Given the description of an element on the screen output the (x, y) to click on. 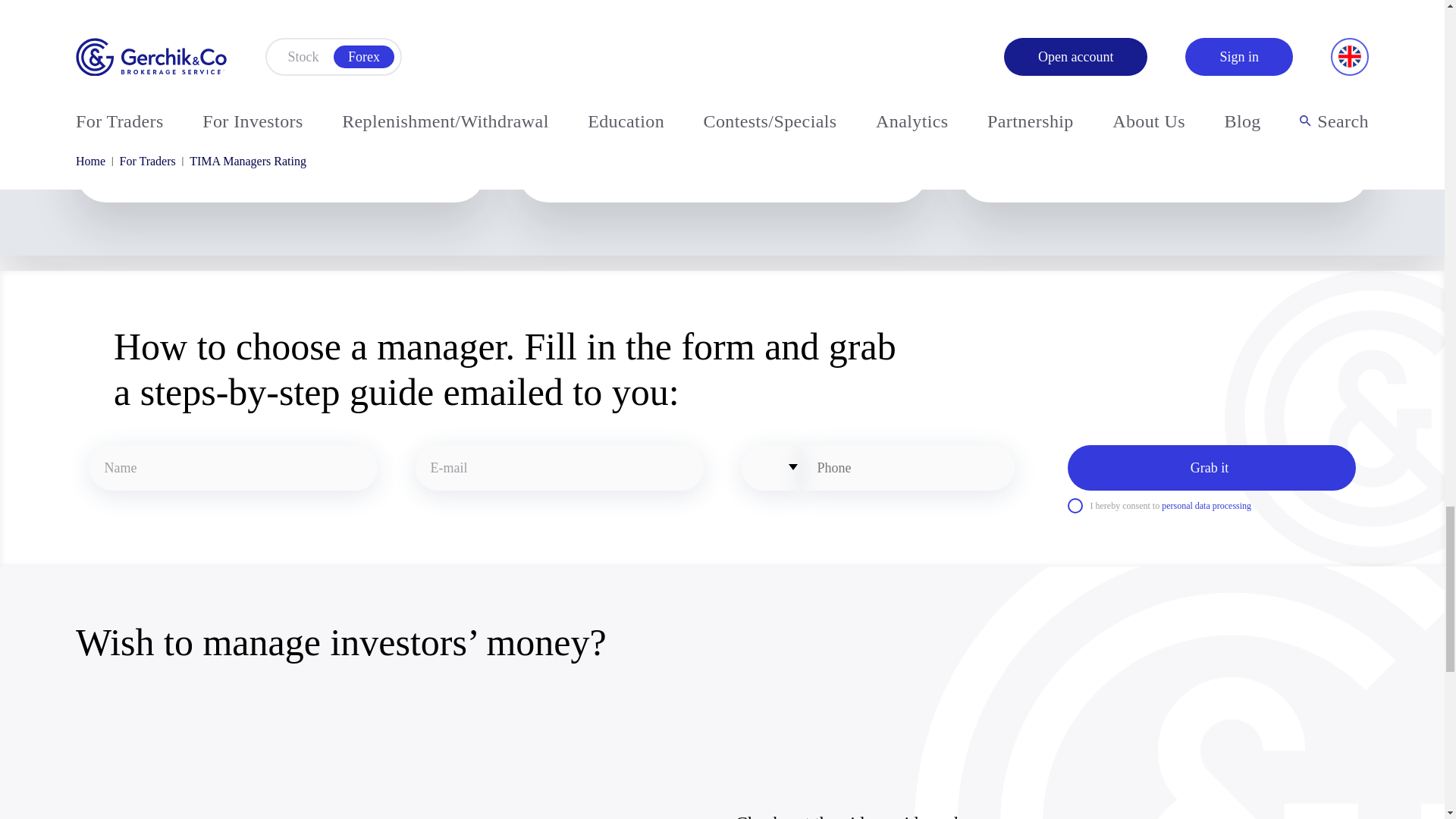
YouTube video player (378, 760)
on (1075, 505)
Grab it (1211, 467)
